Given the description of an element on the screen output the (x, y) to click on. 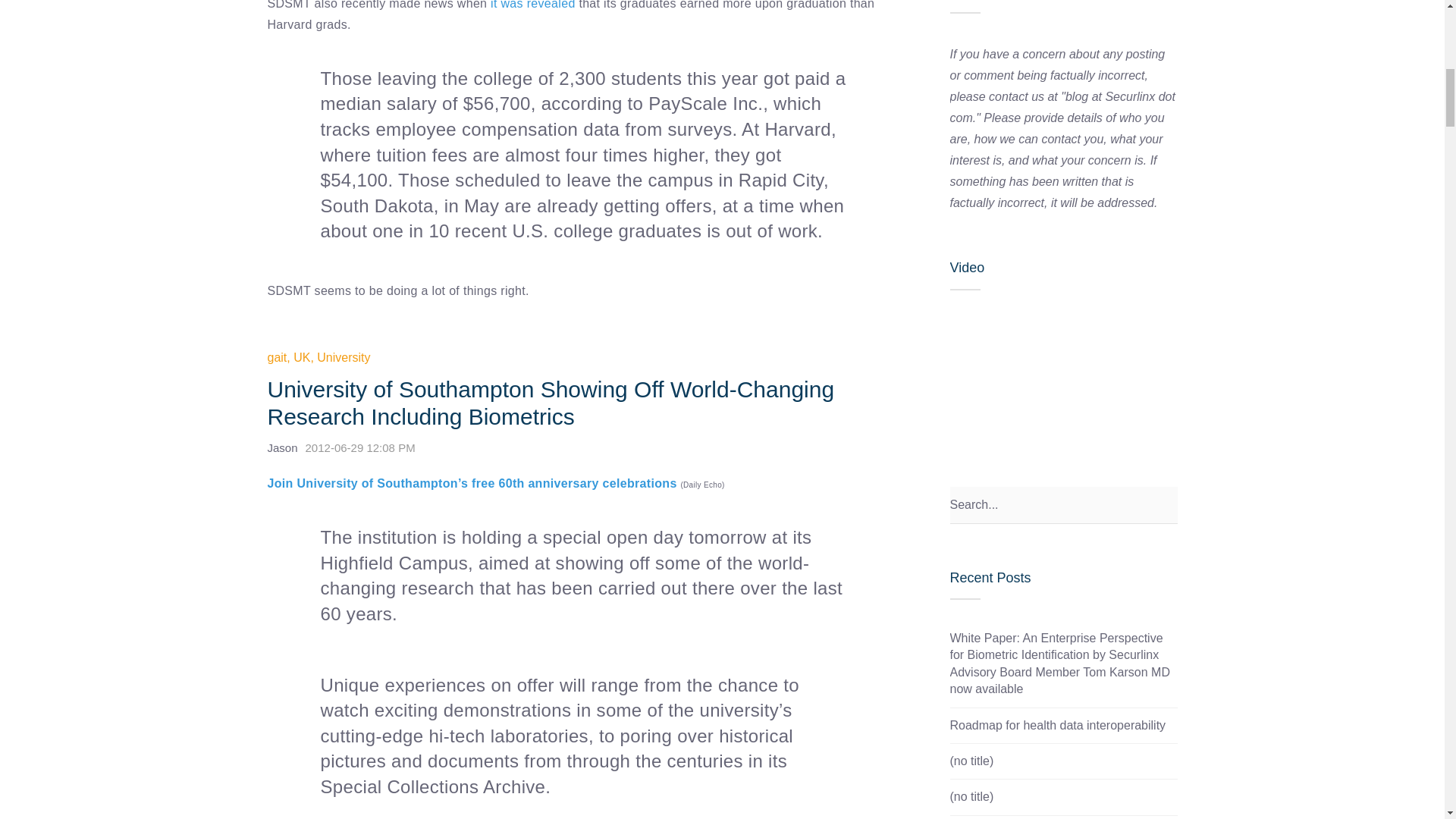
it was revealed (532, 4)
View all posts by Jason (281, 447)
University (343, 357)
gait (276, 357)
Search... (1062, 505)
UK (302, 357)
2012-06-29 12:08 PM (364, 447)
Search... (1062, 505)
Roadmap for health data interoperability (1057, 725)
Jason (281, 447)
